Given the description of an element on the screen output the (x, y) to click on. 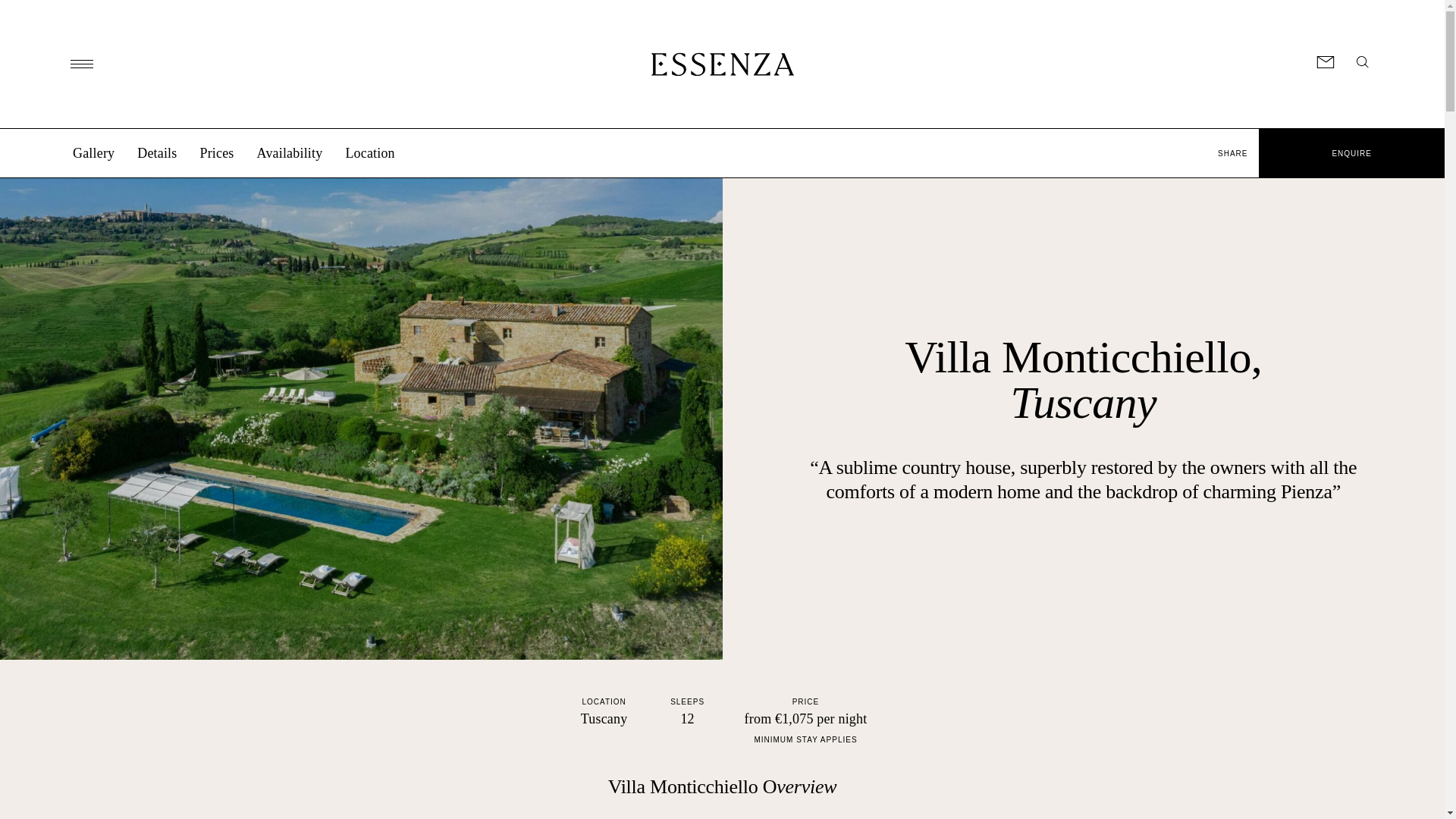
Contact Us (1325, 61)
Gallery (93, 152)
Logo essenza (721, 63)
GalleryDetailsPricesAvailabilityLocation (603, 160)
SHARE (1233, 153)
Availability (290, 152)
Details (156, 152)
Prices (215, 152)
Location (369, 152)
Search (1362, 61)
